Given the description of an element on the screen output the (x, y) to click on. 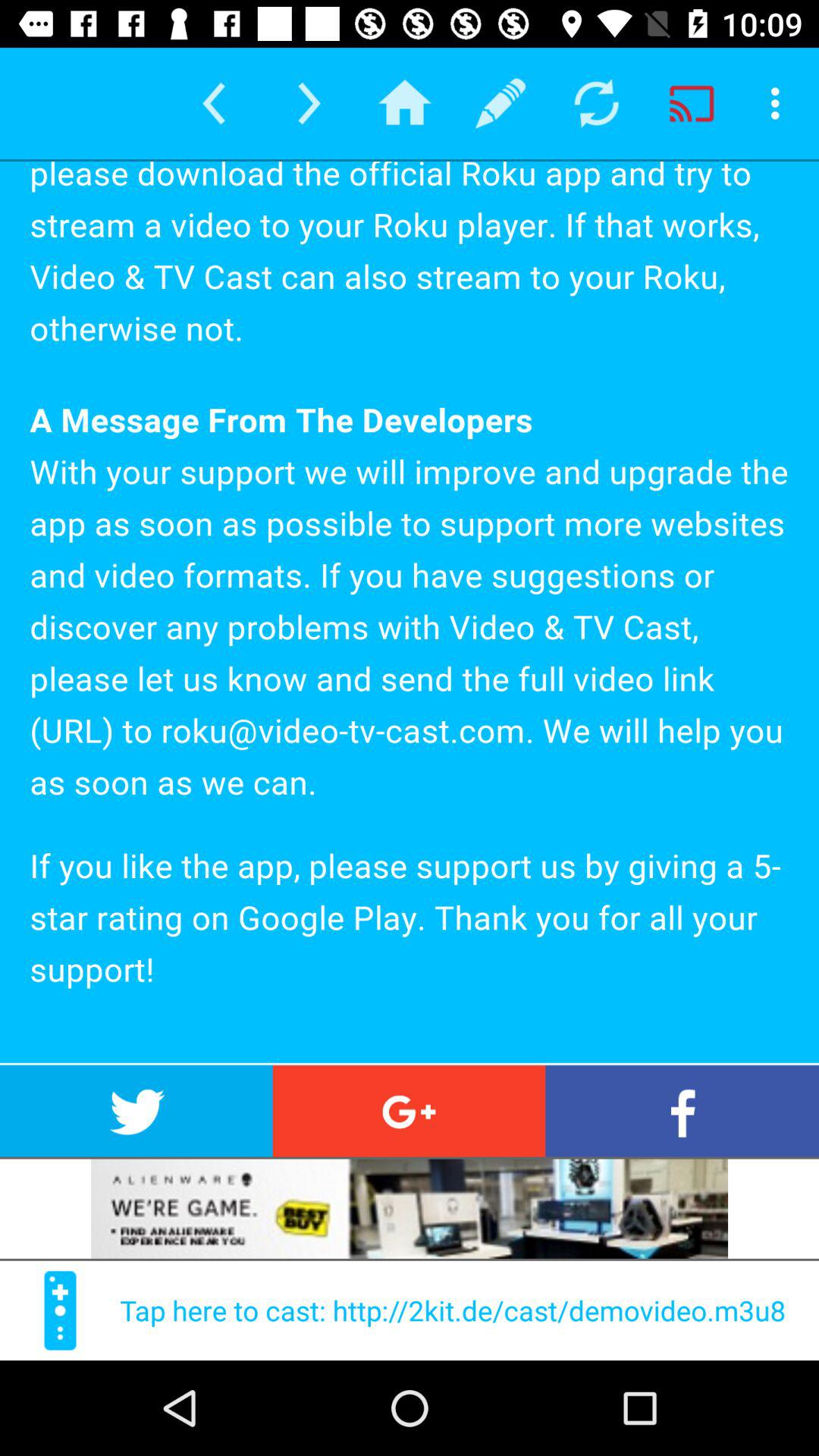
advertisement (409, 1208)
